Given the description of an element on the screen output the (x, y) to click on. 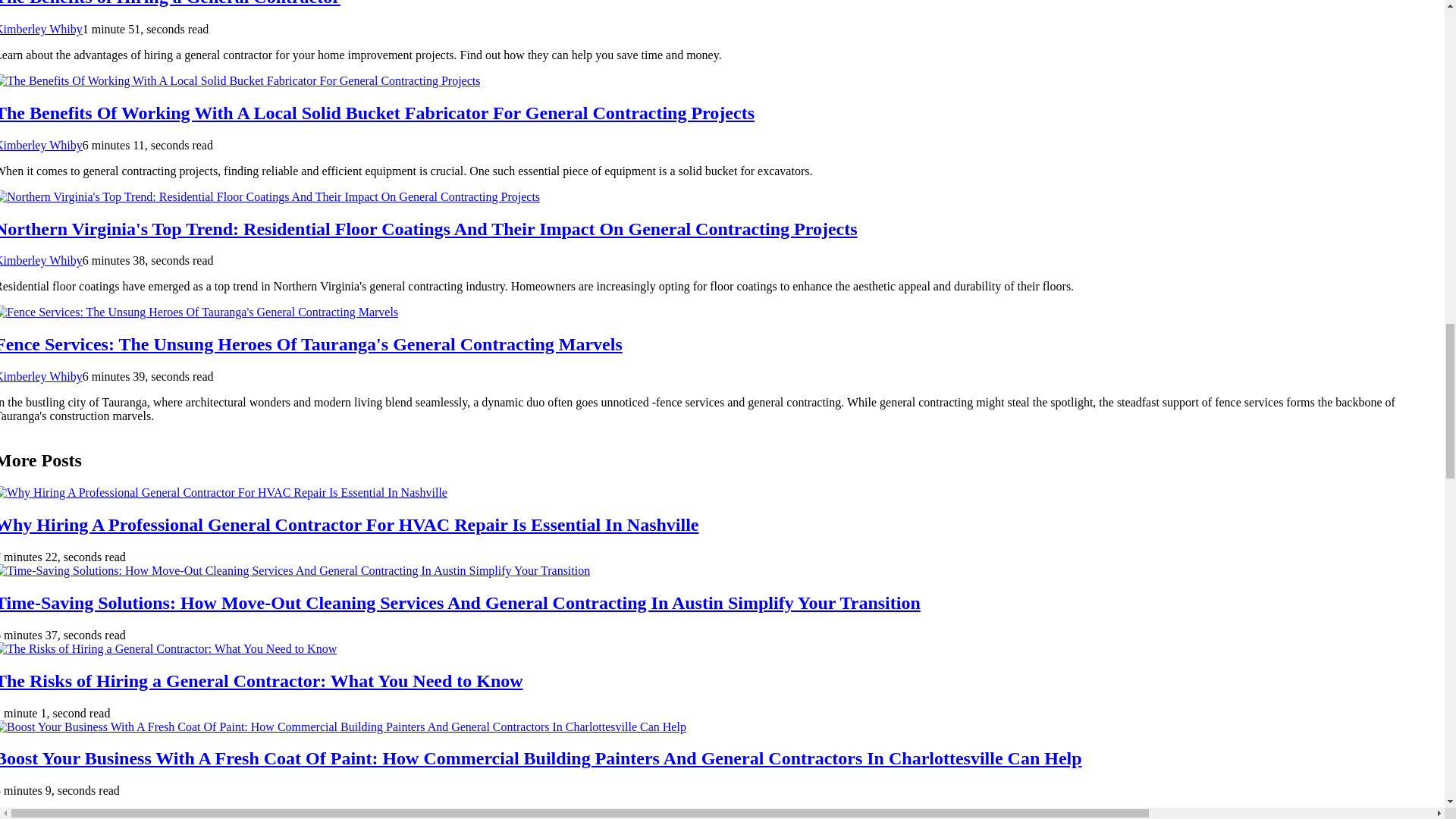
The Benefits of Hiring a General Contractor (170, 3)
Kimberley Whiby (41, 376)
Kimberley Whiby (41, 29)
Kimberley Whiby (41, 144)
Posts by Kimberley Whiby (41, 376)
Posts by Kimberley Whiby (41, 144)
Home (50, 814)
